Given the description of an element on the screen output the (x, y) to click on. 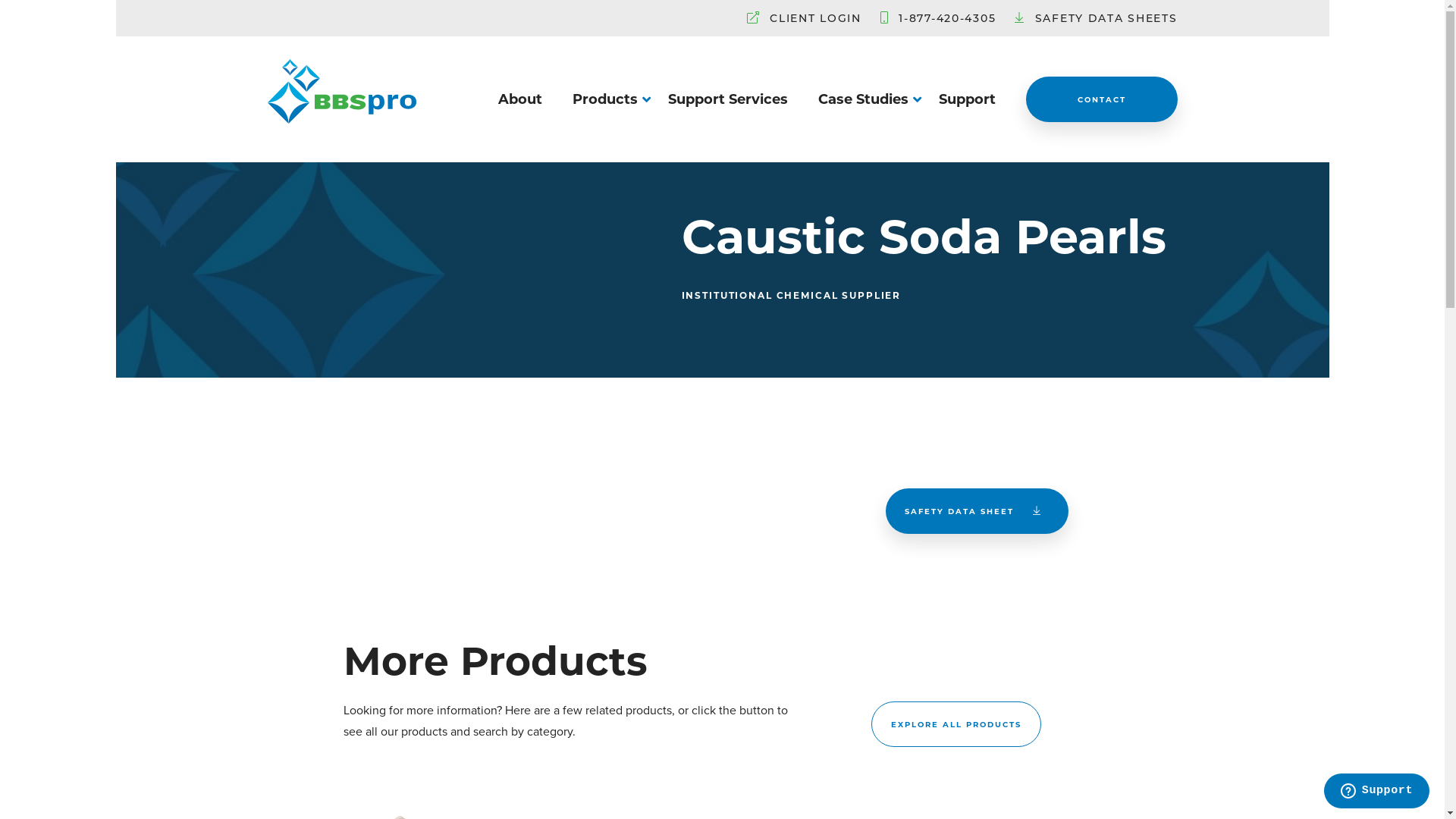
INSTITUTIONAL CHEMICAL SUPPLIER Element type: text (790, 289)
CONTACT Element type: text (1100, 99)
Products Element type: text (604, 98)
BBSPro Element type: hover (340, 124)
1-877-420-4305 Element type: text (946, 18)
Case Studies Element type: text (862, 98)
Opens a widget where you can find more information Element type: hover (1376, 792)
SAFETY DATA SHEET Element type: text (976, 510)
About Element type: text (519, 98)
SAFETY DATA SHEETS Element type: text (1106, 18)
Support Services Element type: text (727, 98)
Support Element type: text (966, 98)
EXPLORE ALL PRODUCTS Element type: text (955, 723)
CLIENT LOGIN Element type: text (815, 18)
